Given the description of an element on the screen output the (x, y) to click on. 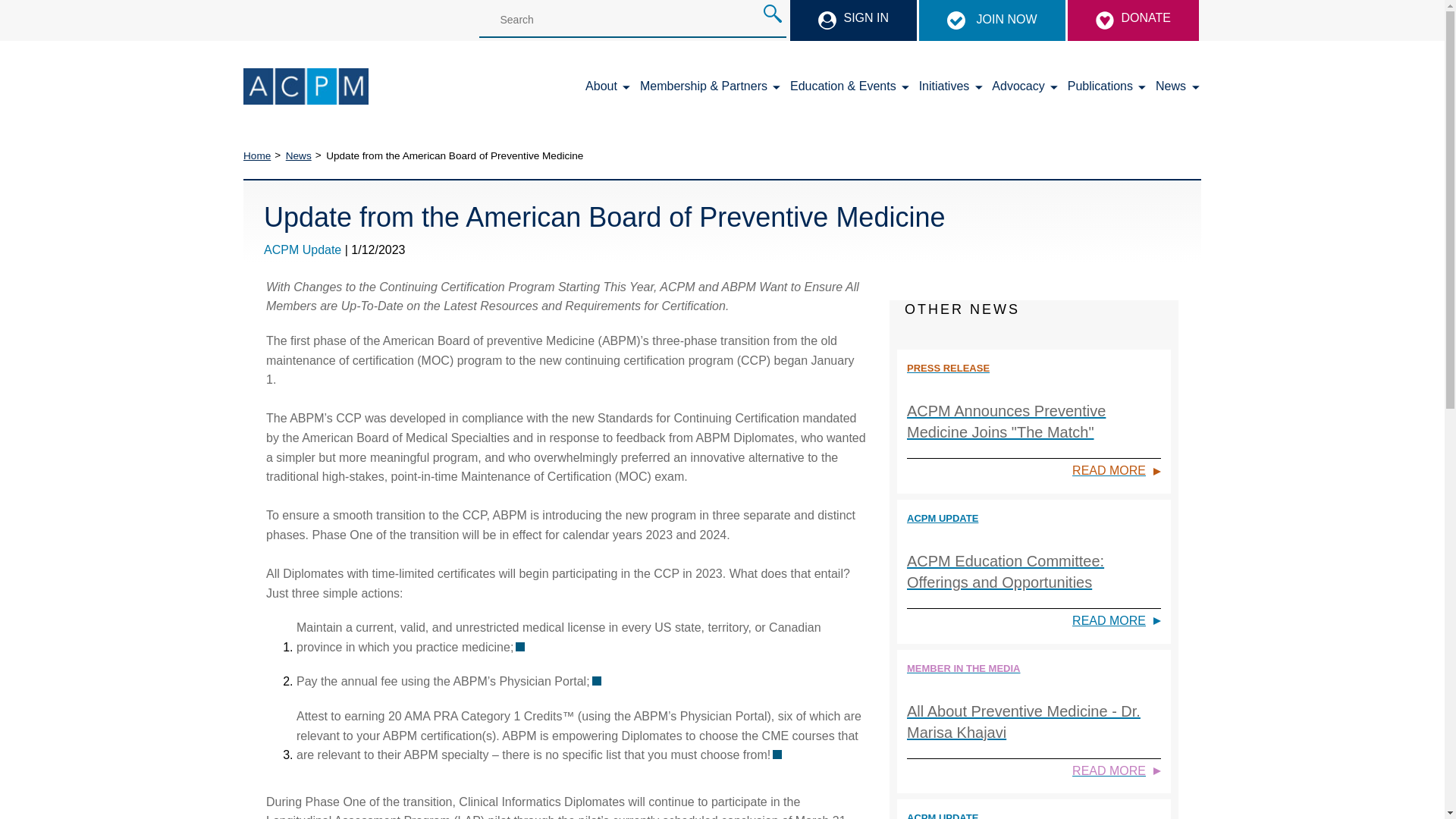
Submit search (772, 13)
DONATE (1132, 20)
JOIN NOW (992, 19)
SIGN IN (853, 20)
JOIN NOW (991, 20)
Site Logo (305, 85)
